Given the description of an element on the screen output the (x, y) to click on. 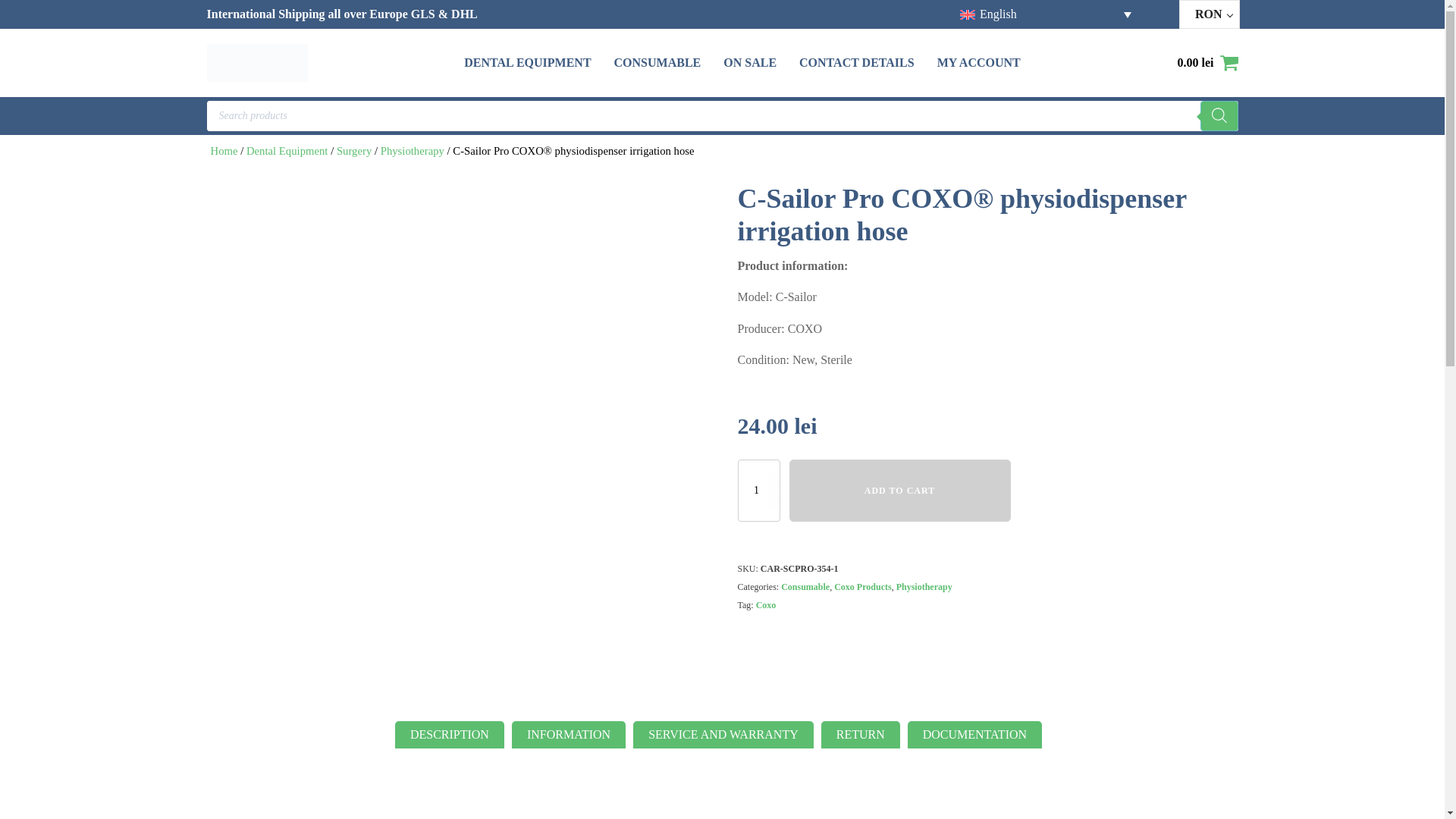
English (1044, 14)
CONSUMABLE (657, 62)
MY ACCOUNT (978, 62)
ON SALE (749, 62)
DENTAL EQUIPMENT (527, 62)
CONTACT DETAILS (856, 62)
